Given the description of an element on the screen output the (x, y) to click on. 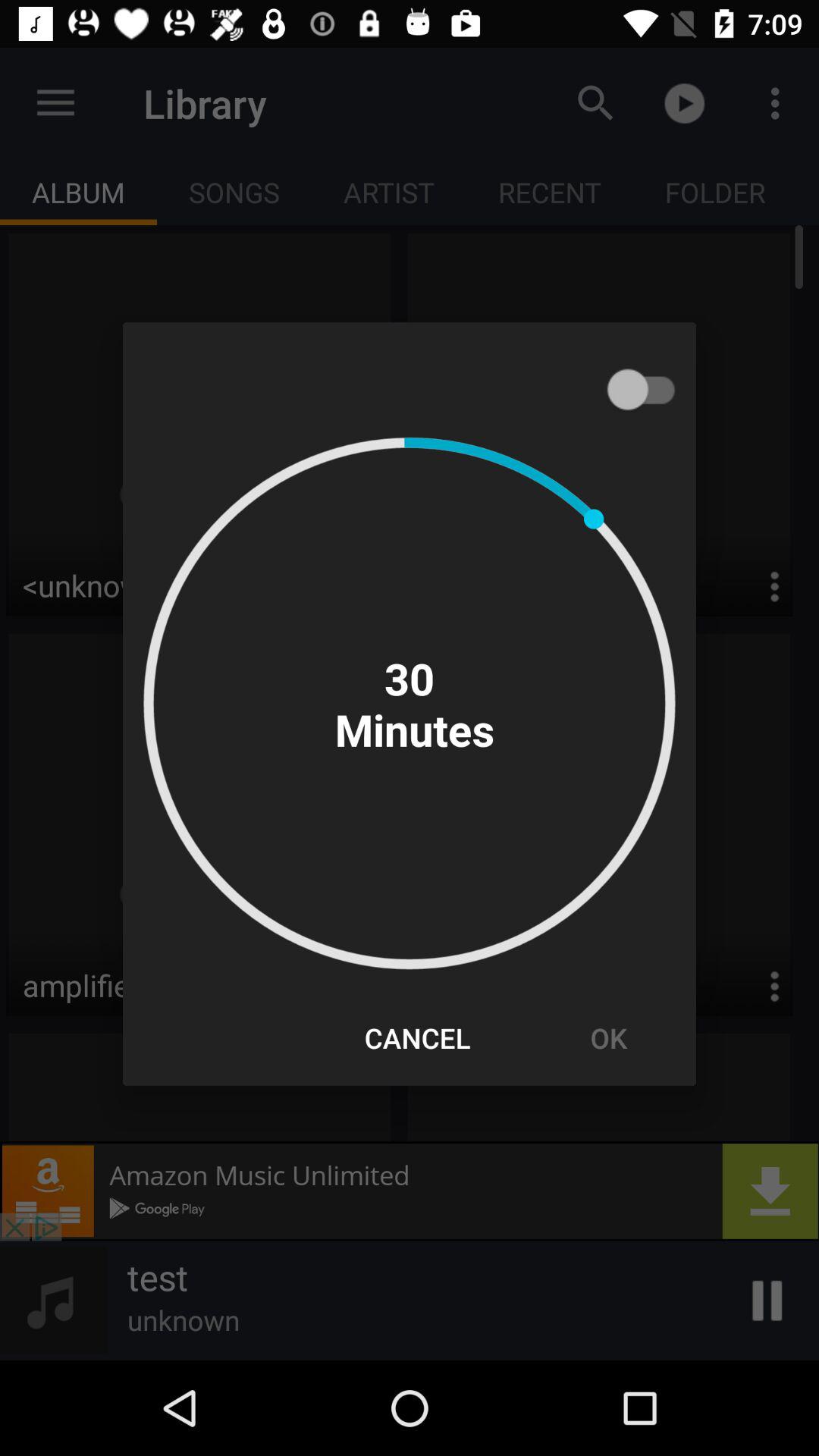
open the ok at the bottom right corner (608, 1037)
